Given the description of an element on the screen output the (x, y) to click on. 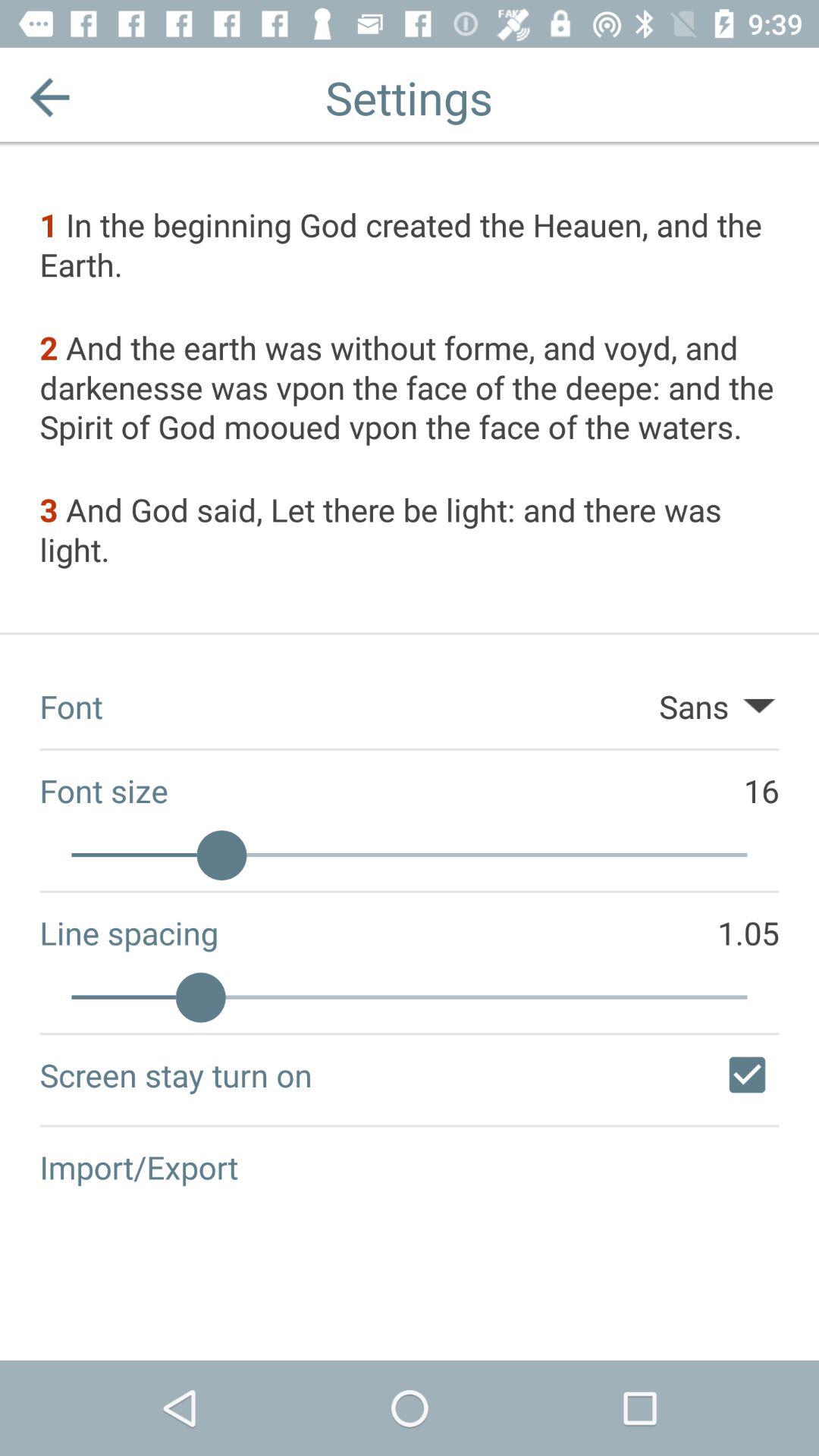
turn on the app above the 1 in the (49, 97)
